Given the description of an element on the screen output the (x, y) to click on. 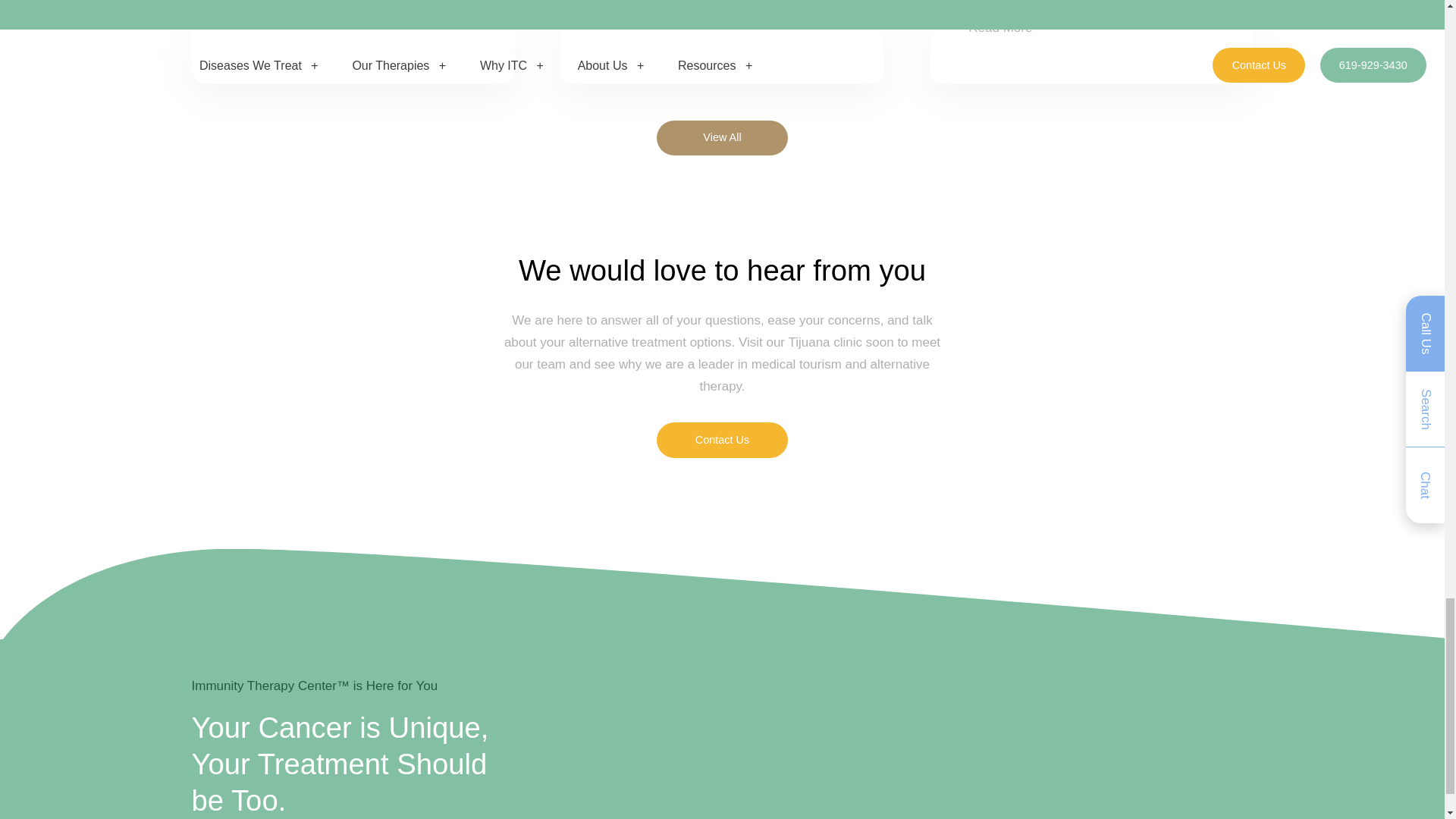
Contact Us (721, 439)
Read More (262, 19)
Read More (630, 7)
View All (721, 137)
Read More (1000, 27)
